Given the description of an element on the screen output the (x, y) to click on. 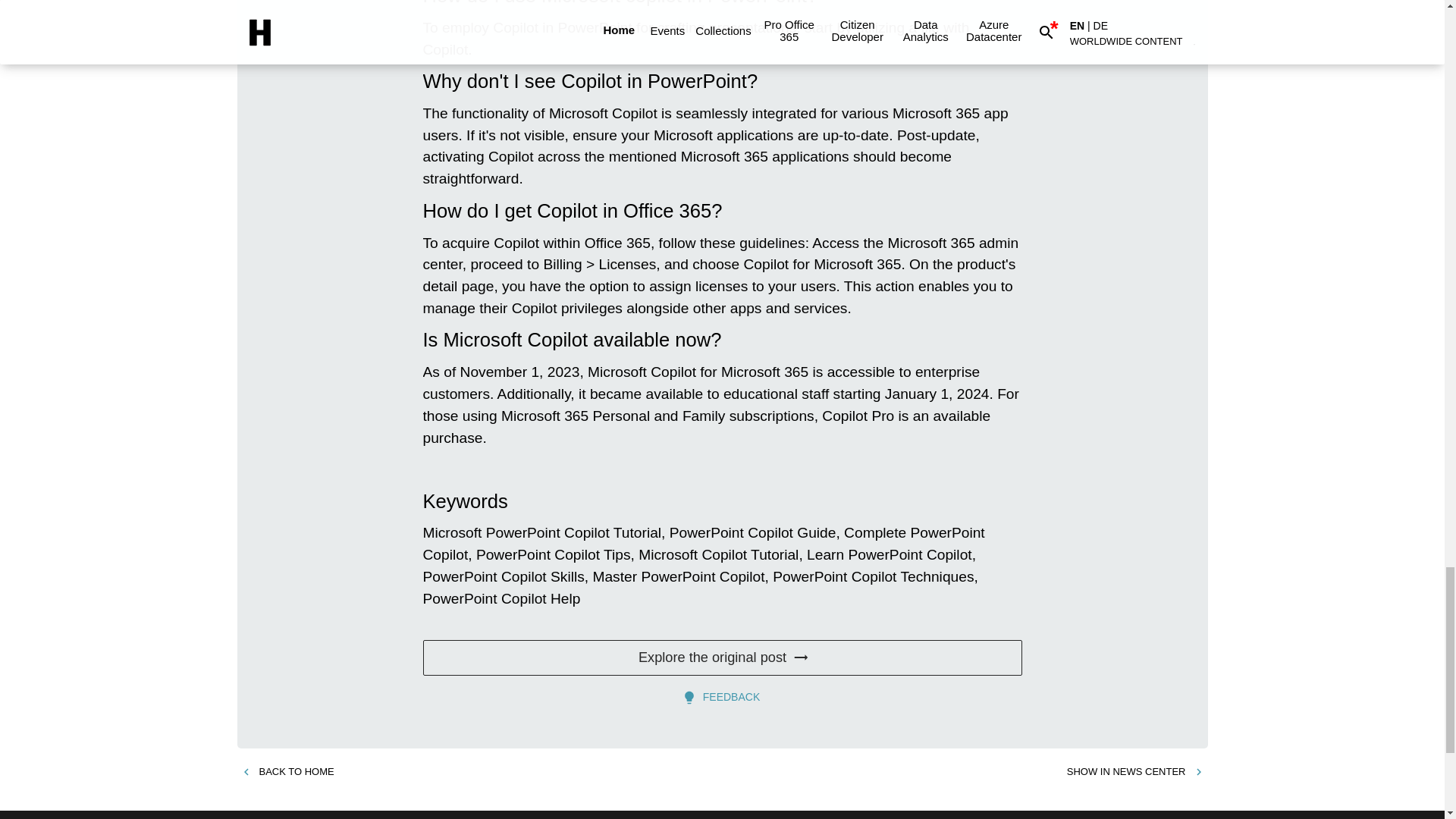
Explore the original post (722, 657)
FEEDBACK (721, 697)
SHOW IN NEWS CENTER (1135, 771)
BACK TO HOME (286, 771)
